Given the description of an element on the screen output the (x, y) to click on. 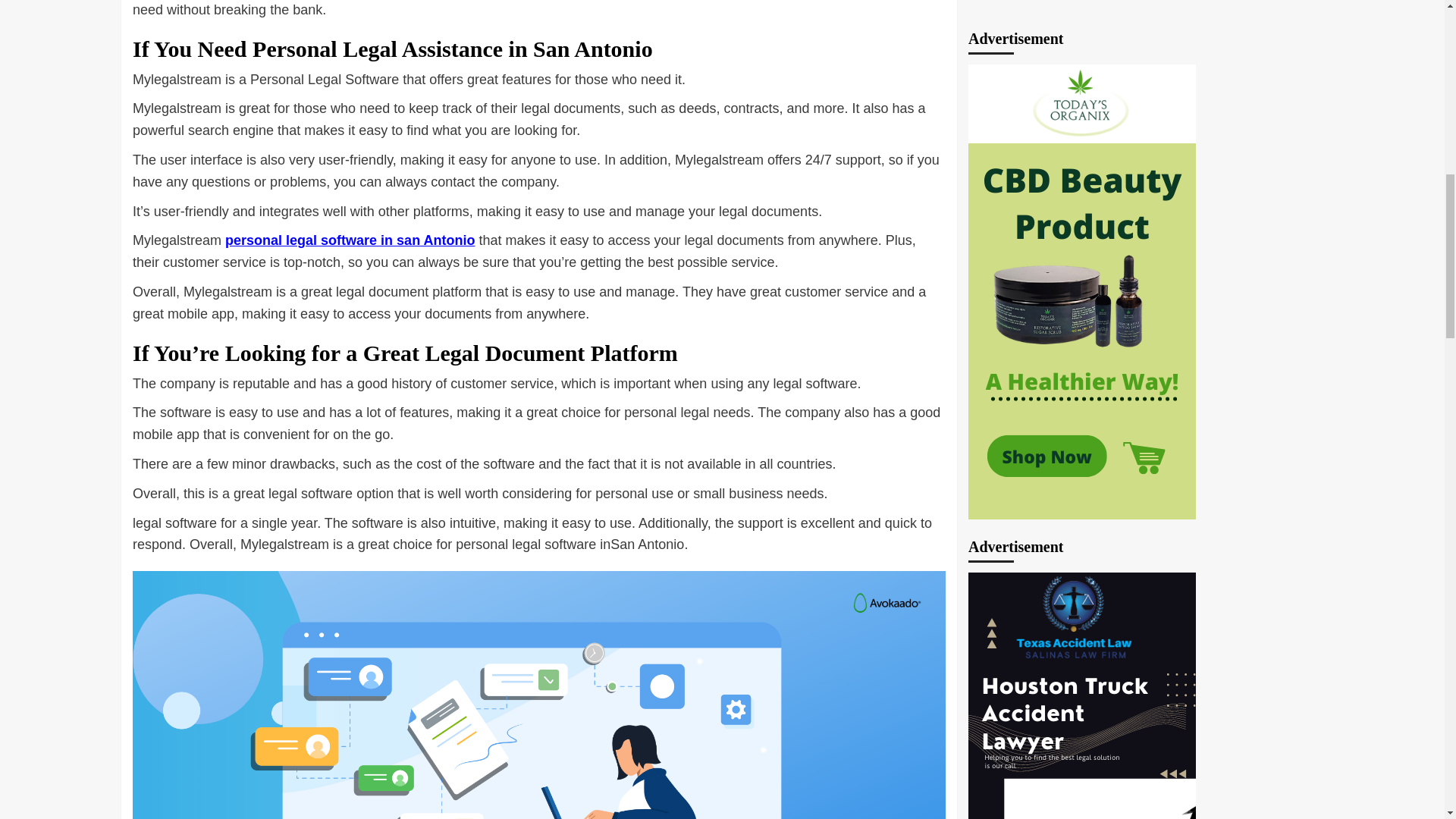
LIFESTYLE (1000, 769)
GENERAL (1063, 737)
Adventure Travel Destinations Beyond the Ordinary (1145, 650)
Search (1261, 393)
TECHNOLOGY (1149, 769)
Search (1261, 393)
personal legal software in san Antonio (349, 240)
BUSINESS (999, 737)
